Given the description of an element on the screen output the (x, y) to click on. 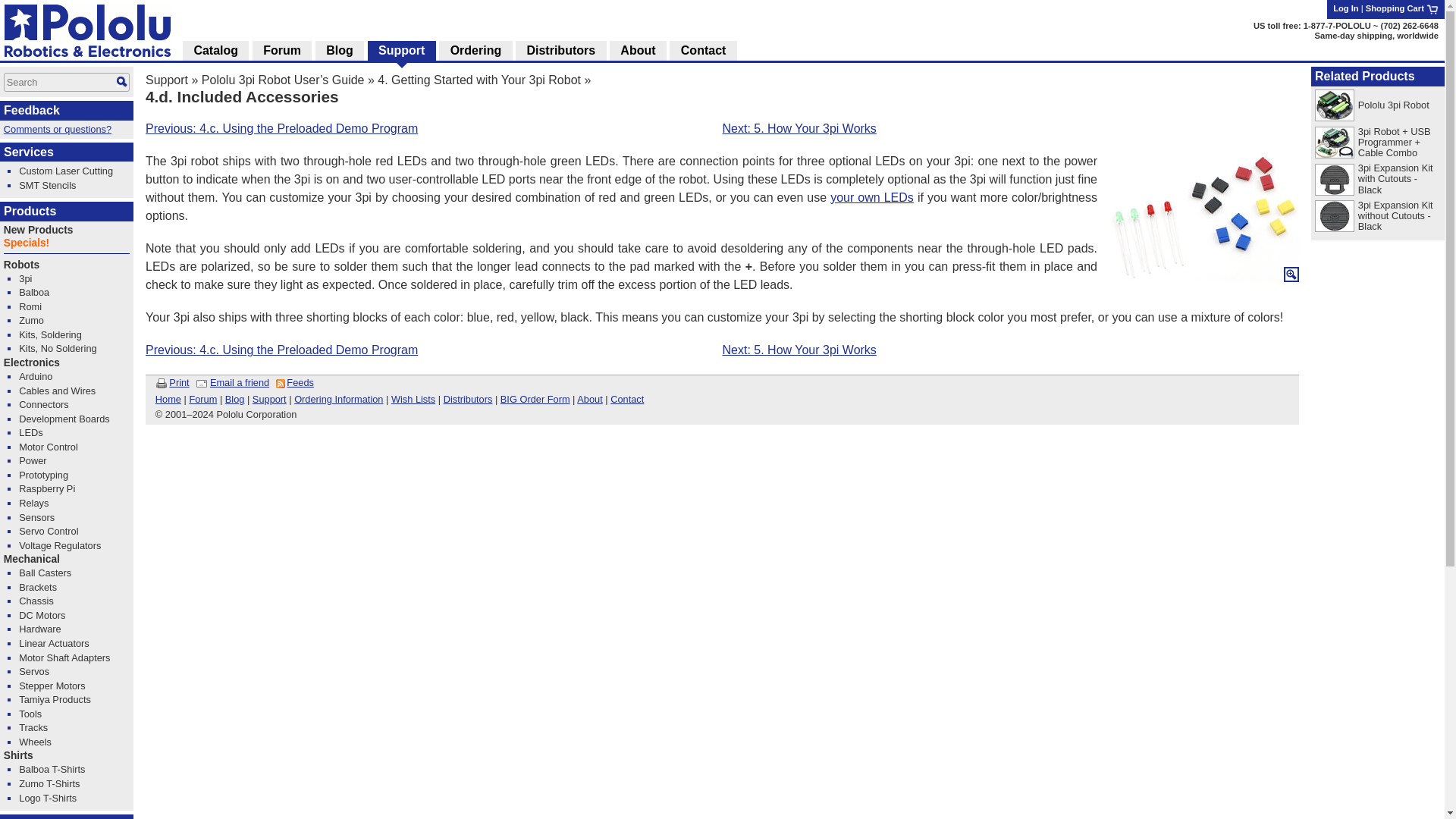
4. Getting Started with Your 3pi Robot (478, 79)
go (122, 81)
Previous: 4.c. Using the Preloaded Demo Program (281, 128)
go (122, 81)
Pololu 3pi Robot (1393, 104)
Support (166, 79)
3pi Expansion Kit with Cutouts - Black (1395, 178)
your own LEDs (871, 196)
Next: 5. How Your 3pi Works (1010, 128)
